Given the description of an element on the screen output the (x, y) to click on. 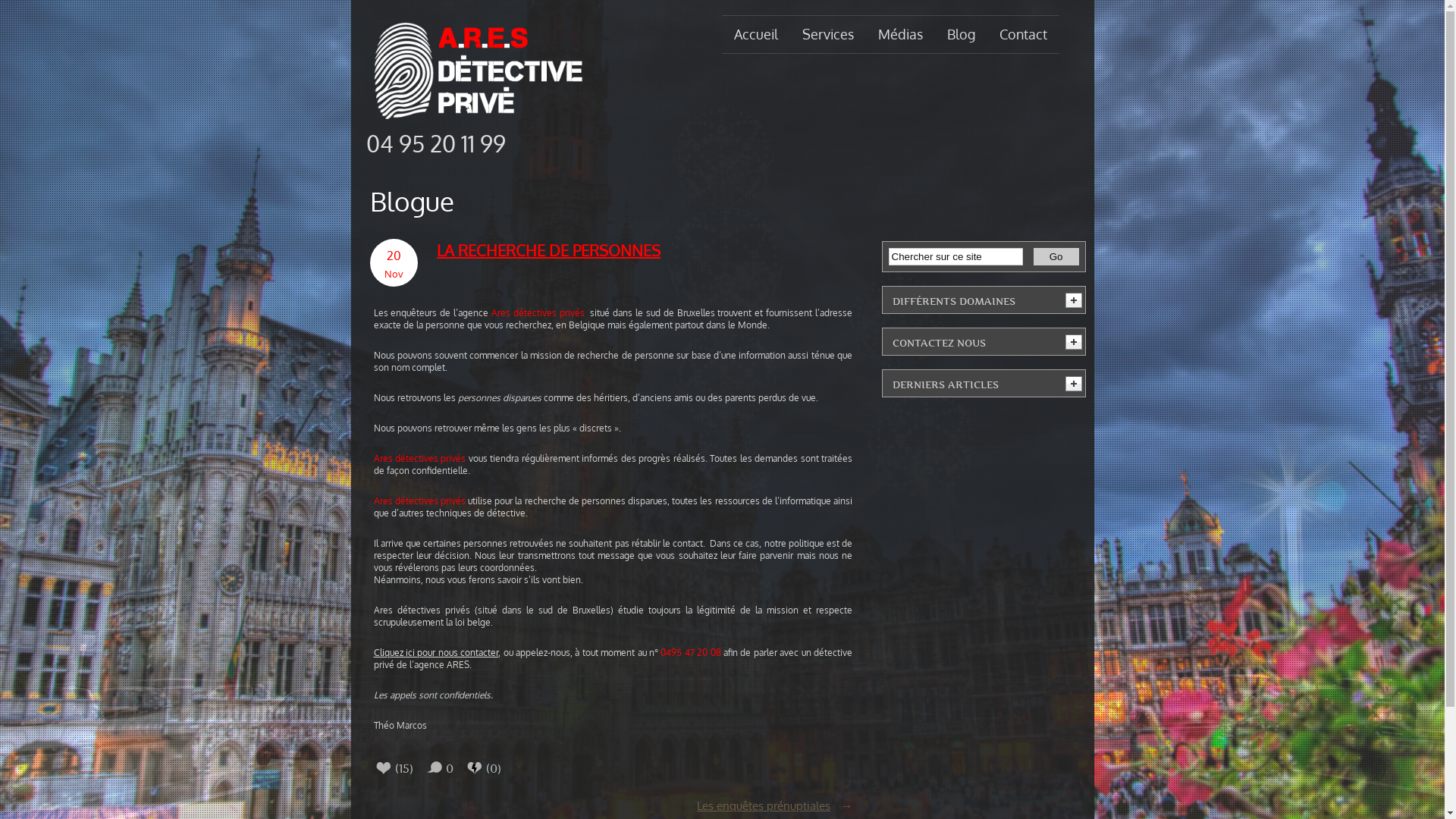
Cliquez ici pour nous contacter Element type: text (435, 652)
Blog Element type: text (960, 34)
Go Element type: text (1056, 256)
Services Element type: text (828, 34)
LA RECHERCHE DE PERSONNES Element type: text (641, 249)
(15) Element type: text (412, 769)
(0) Element type: text (502, 769)
04 95 20 11 99 Element type: text (435, 142)
Blogue Element type: text (412, 201)
Accueil Element type: text (755, 34)
Contact Element type: text (1023, 34)
